Given the description of an element on the screen output the (x, y) to click on. 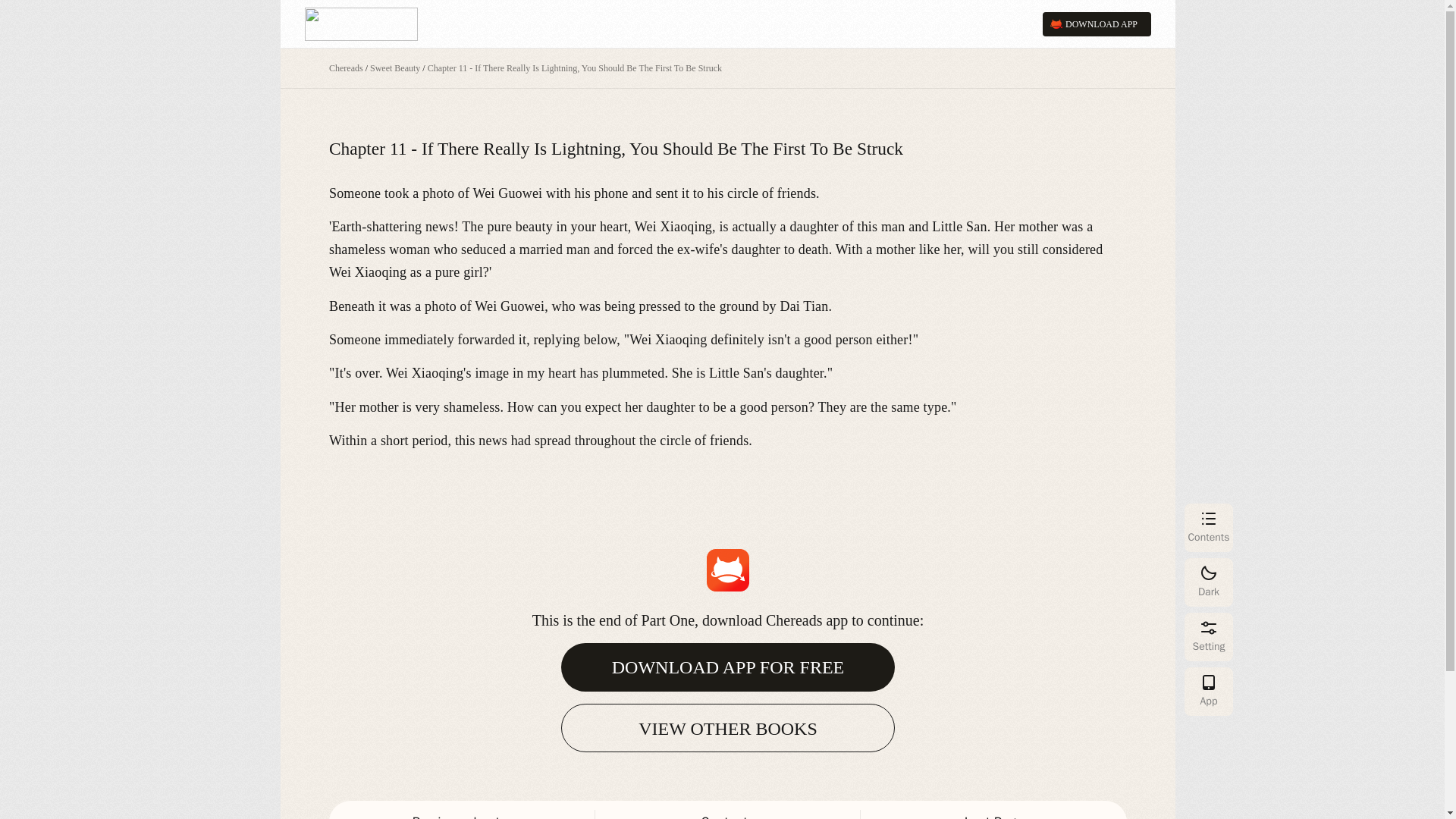
Sweet Beauty (394, 68)
App (1209, 691)
Previous chapter (462, 809)
Contents (728, 809)
Contents (1209, 527)
Setting (1209, 636)
Chapter List of Sweet Beauty (394, 68)
Dark (1209, 581)
Chereads (345, 68)
VIEW OTHER BOOKS (727, 727)
